Given the description of an element on the screen output the (x, y) to click on. 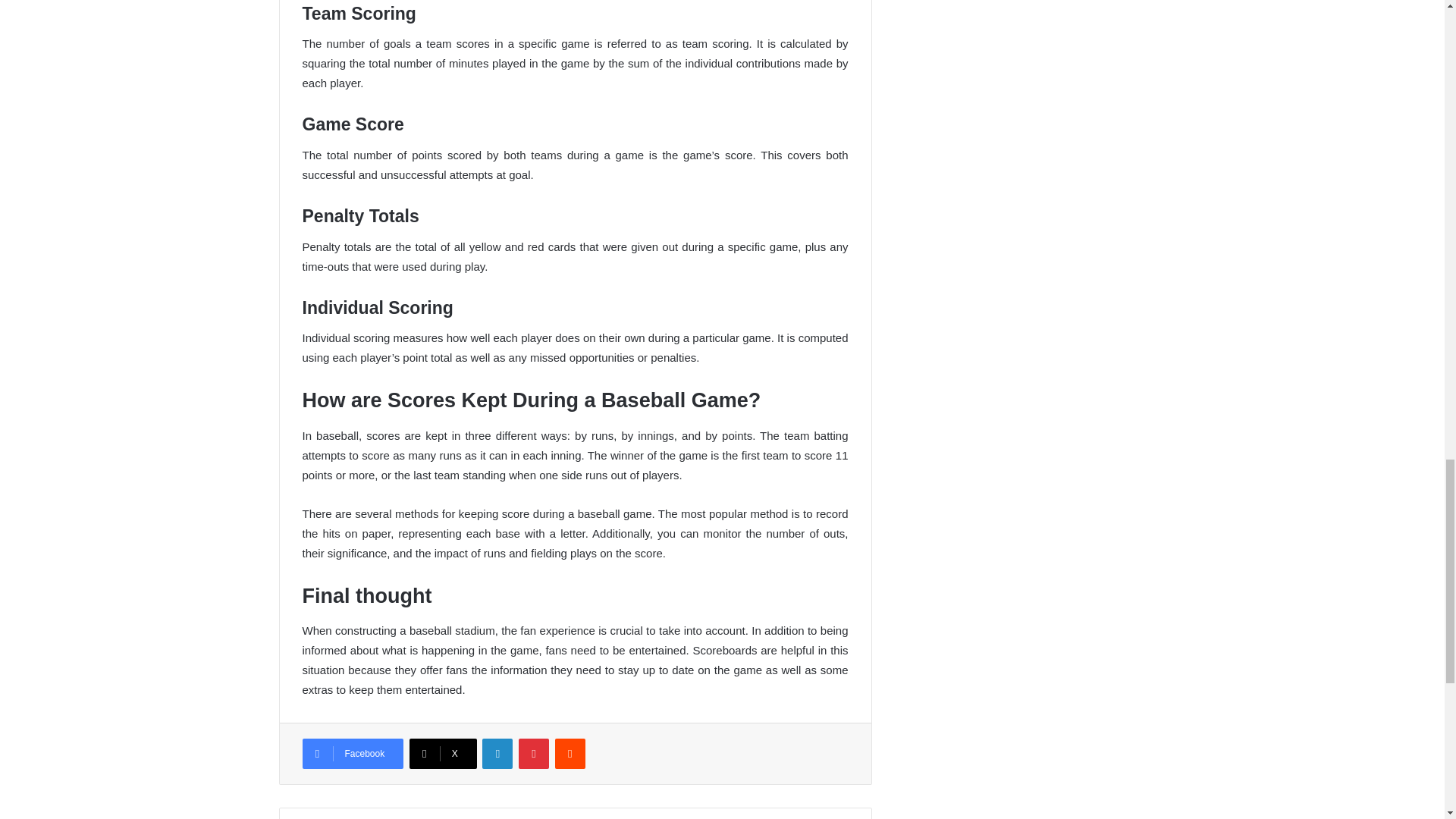
Facebook (352, 753)
LinkedIn (496, 753)
X (443, 753)
Pinterest (533, 753)
Reddit (569, 753)
Reddit (569, 753)
LinkedIn (496, 753)
Pinterest (533, 753)
X (443, 753)
Facebook (352, 753)
